Given the description of an element on the screen output the (x, y) to click on. 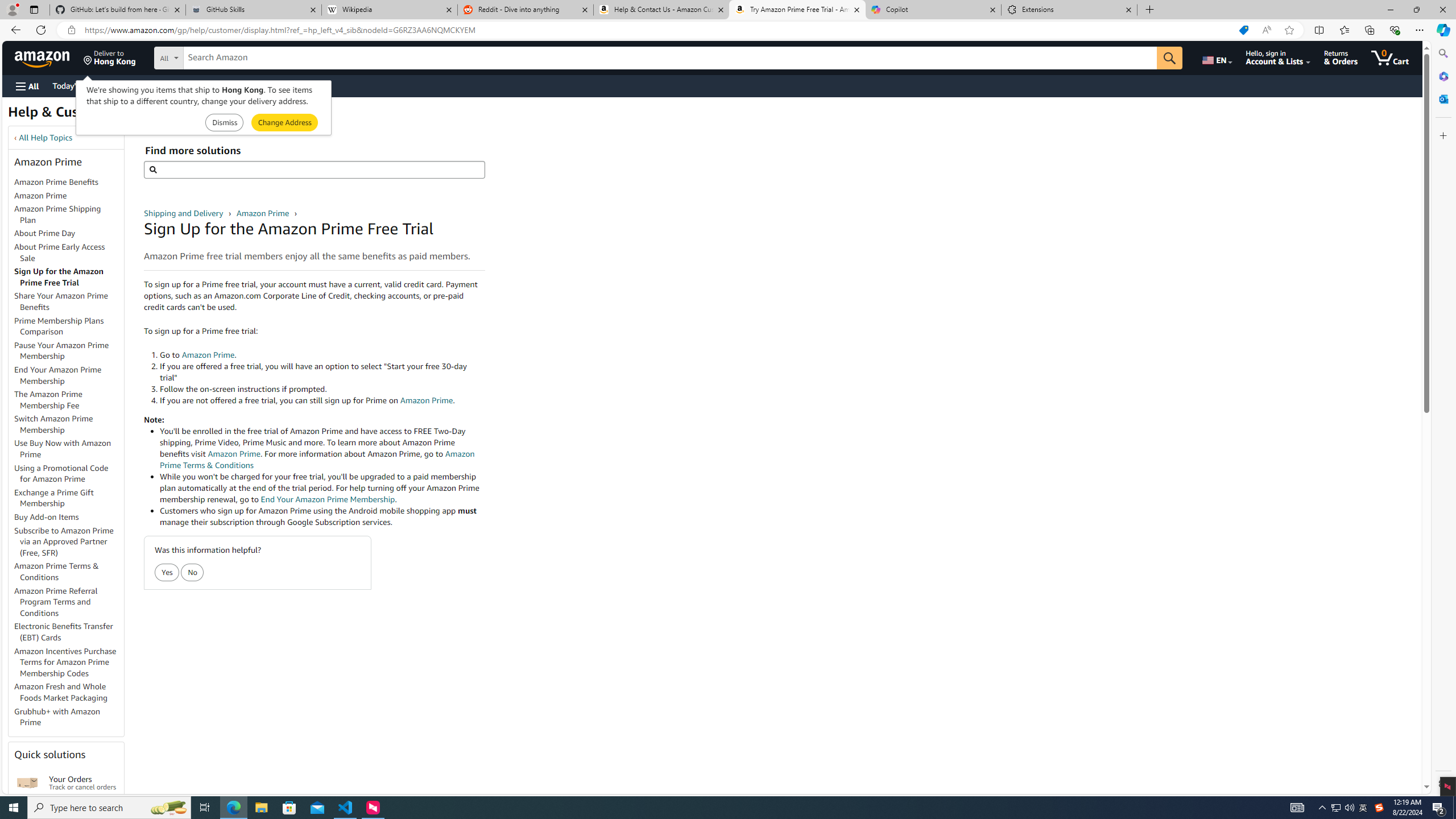
Minimize (1390, 9)
Amazon Prime Benefits (68, 182)
Exchange a Prime Gift Membership (53, 497)
Extensions (1068, 9)
Your Orders (27, 782)
Amazon Prime (40, 195)
Copilot (Ctrl+Shift+.) (1442, 29)
Side bar (1443, 418)
Try Amazon Prime Free Trial - Amazon Customer Service (797, 9)
Electronic Benefits Transfer (EBT) Cards (68, 631)
Share Your Amazon Prime Benefits (61, 301)
Close (1442, 9)
